Given the description of an element on the screen output the (x, y) to click on. 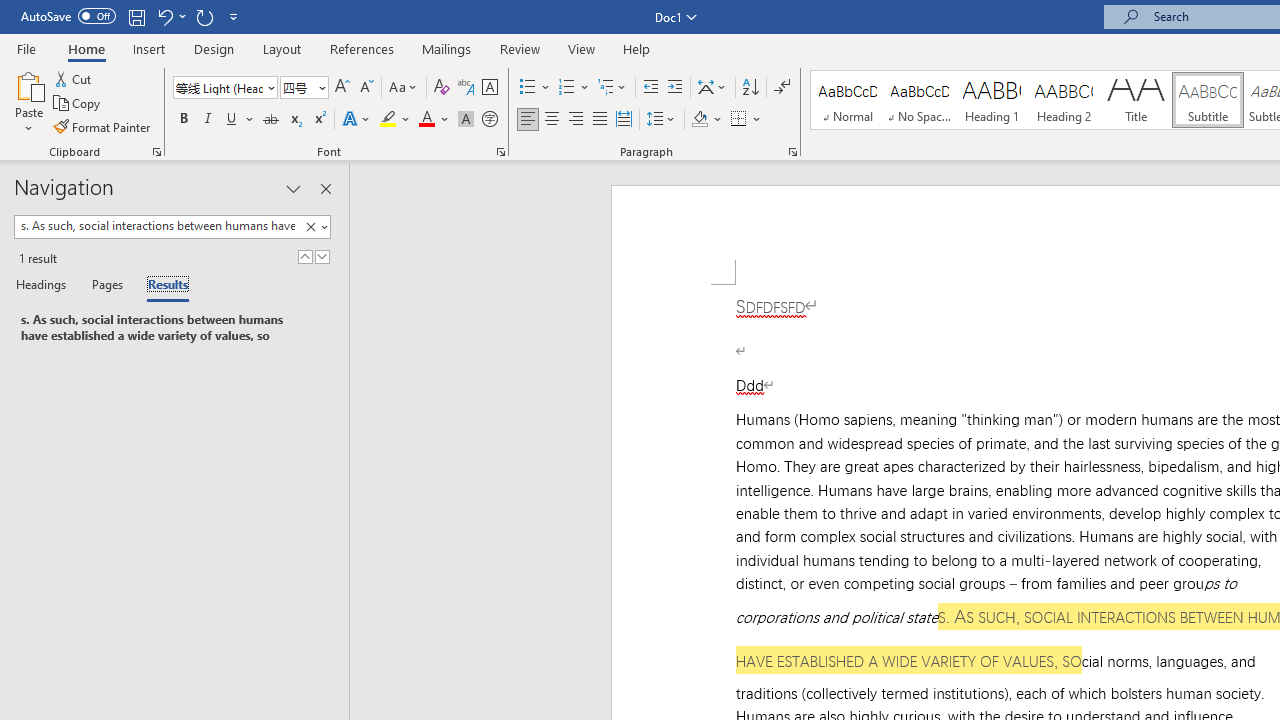
Clear (310, 227)
Result 1 of 1 (166, 328)
Font Color RGB(255, 0, 0) (426, 119)
